Given the description of an element on the screen output the (x, y) to click on. 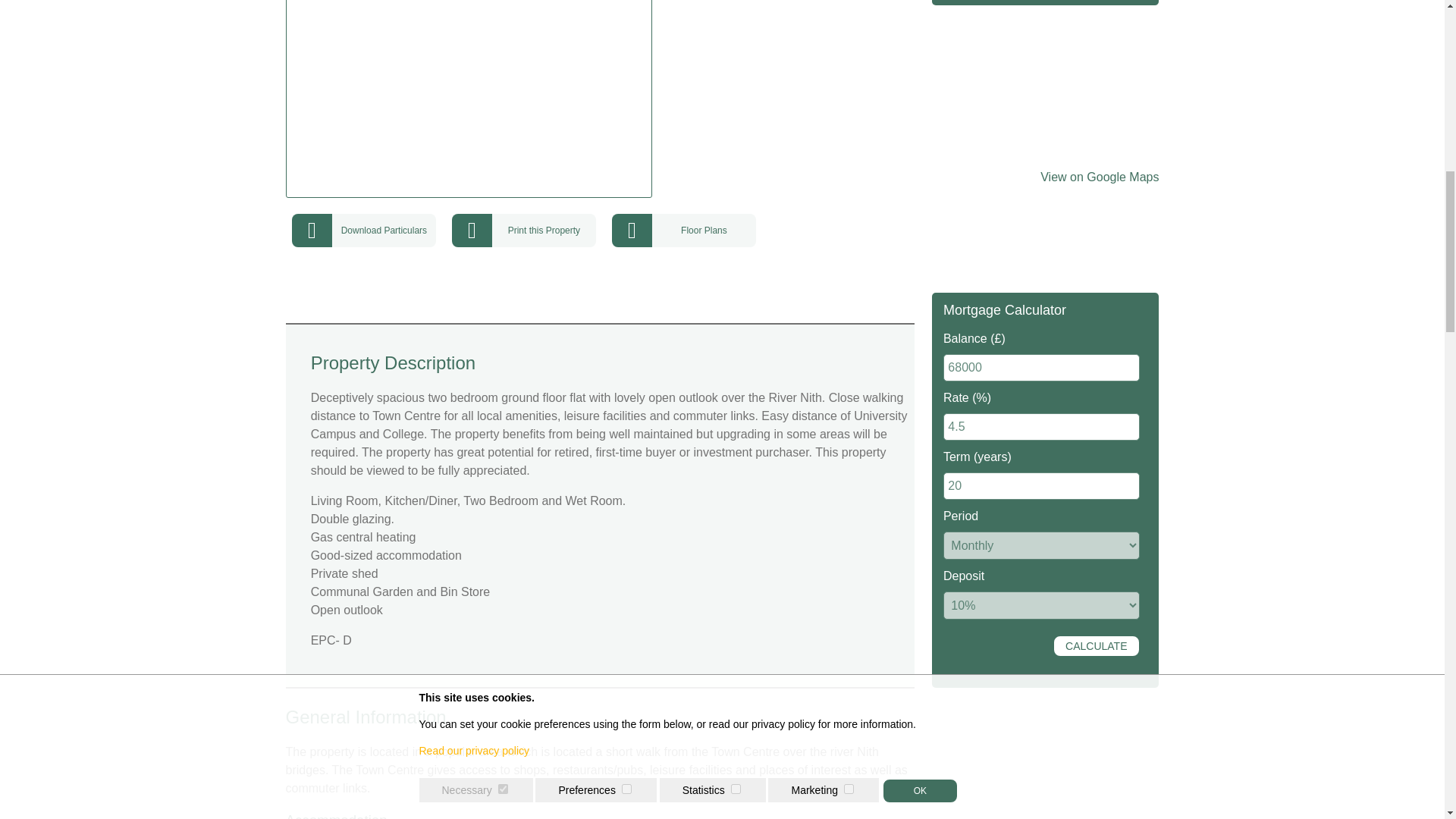
Rate (1041, 426)
68000 (1041, 367)
Calculate (1096, 645)
Term (1041, 485)
20 (1041, 485)
Balance (1041, 367)
4.5 (1041, 426)
